Given the description of an element on the screen output the (x, y) to click on. 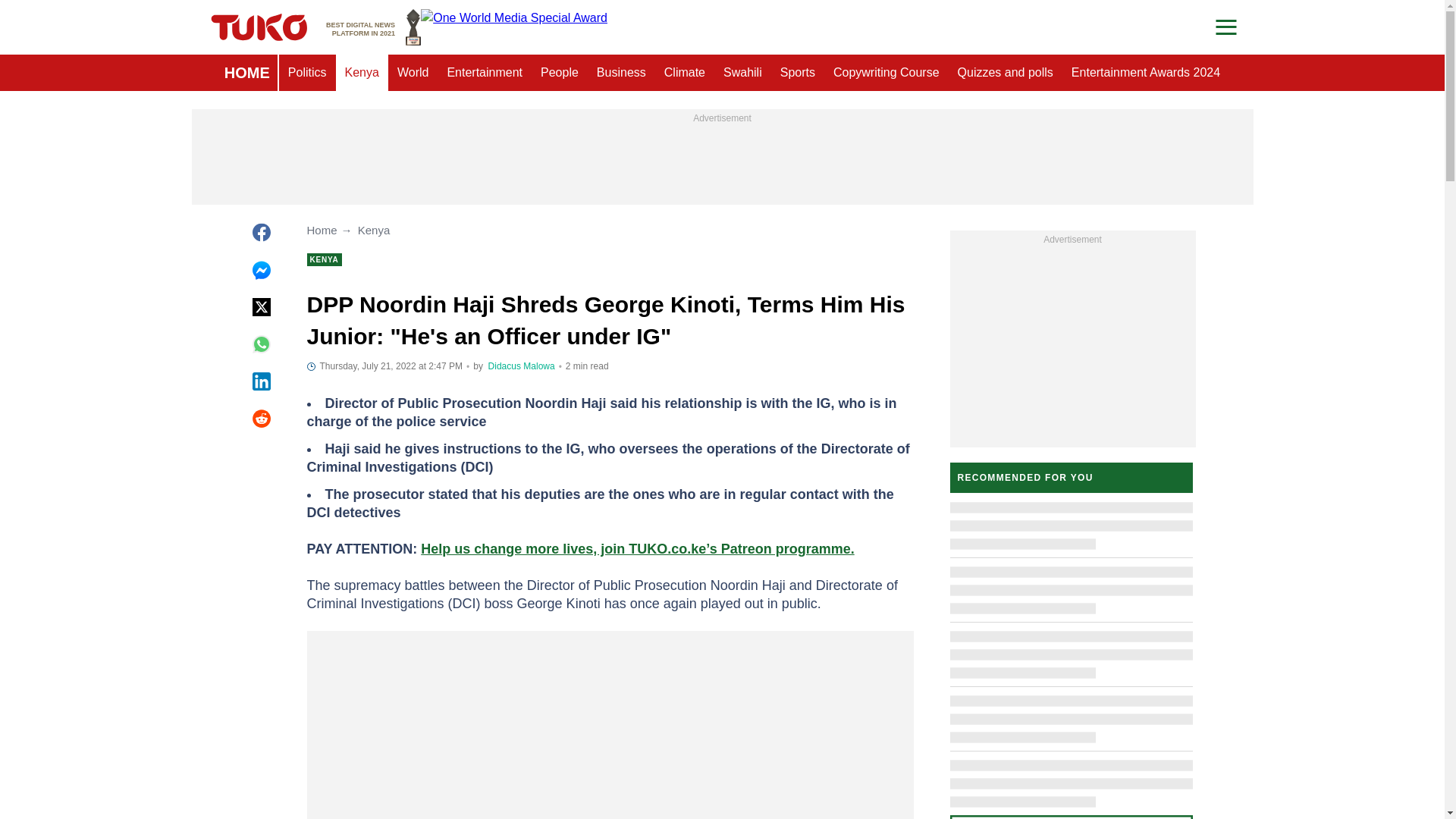
Swahili (742, 72)
Climate (684, 72)
World (413, 72)
Sports (797, 72)
Politics (307, 72)
Quizzes and polls (373, 27)
HOME (1005, 72)
Copywriting Course (247, 72)
People (886, 72)
Business (559, 72)
Entertainment (621, 72)
Entertainment Awards 2024 (484, 72)
Author page (1145, 72)
Kenya (520, 366)
